Given the description of an element on the screen output the (x, y) to click on. 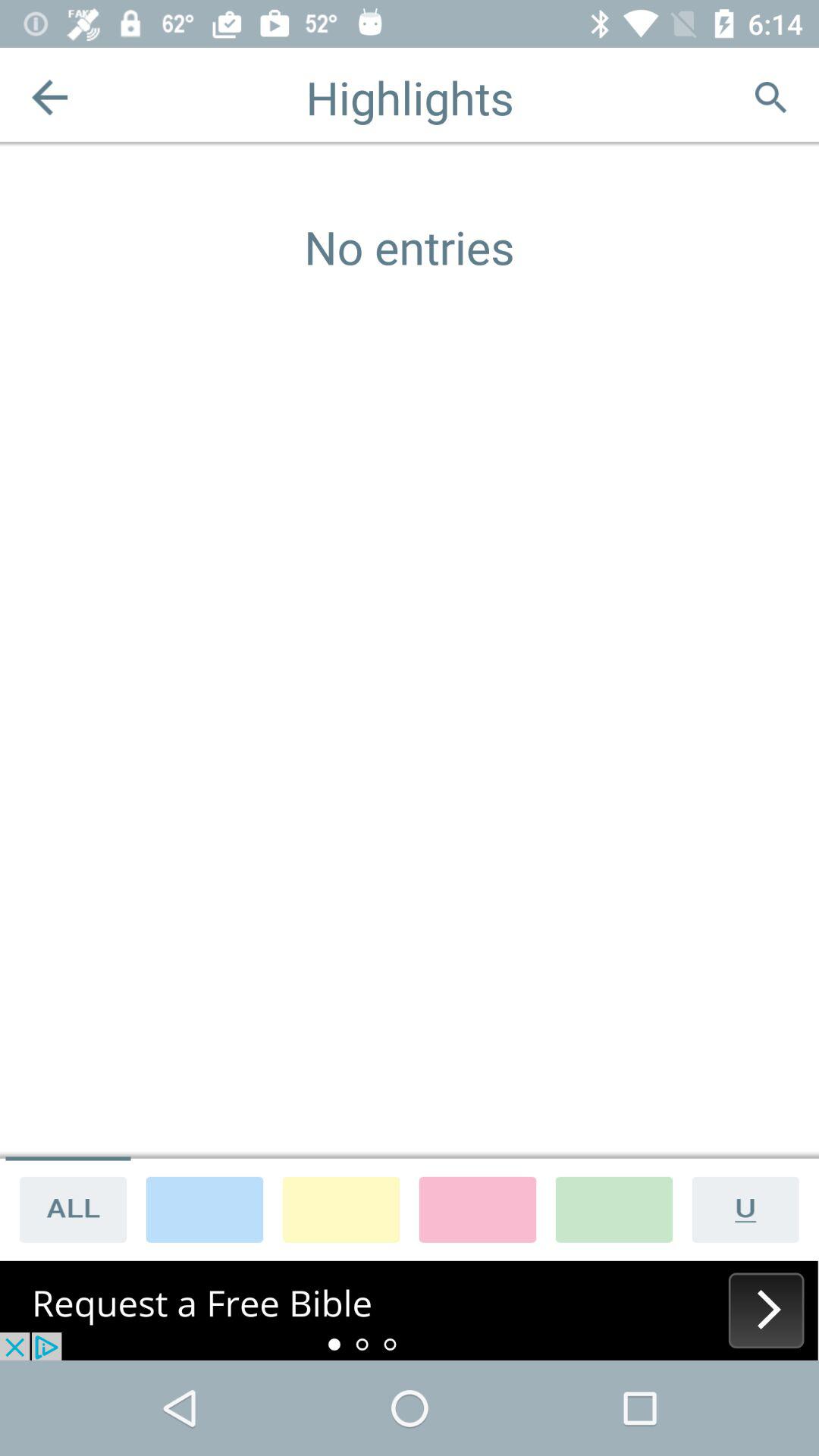
to return (49, 97)
